Given the description of an element on the screen output the (x, y) to click on. 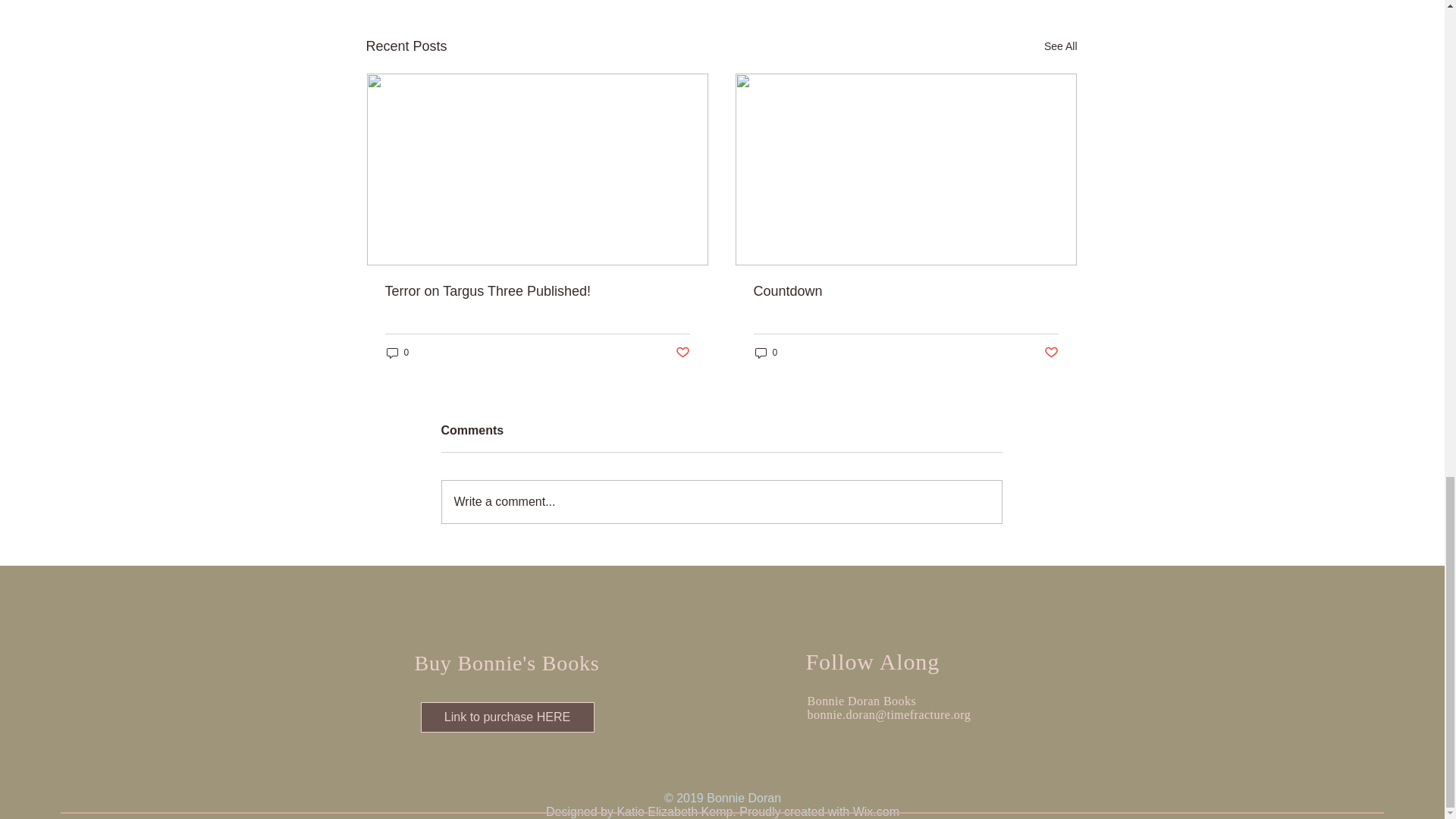
Write a comment... (721, 501)
0 (766, 352)
0 (397, 352)
Terror on Targus Three Published! (537, 291)
Link to purchase HERE (507, 716)
Post not marked as liked (1050, 352)
Countdown (906, 291)
See All (1060, 46)
Wix.com (876, 811)
Post not marked as liked (681, 352)
